Given the description of an element on the screen output the (x, y) to click on. 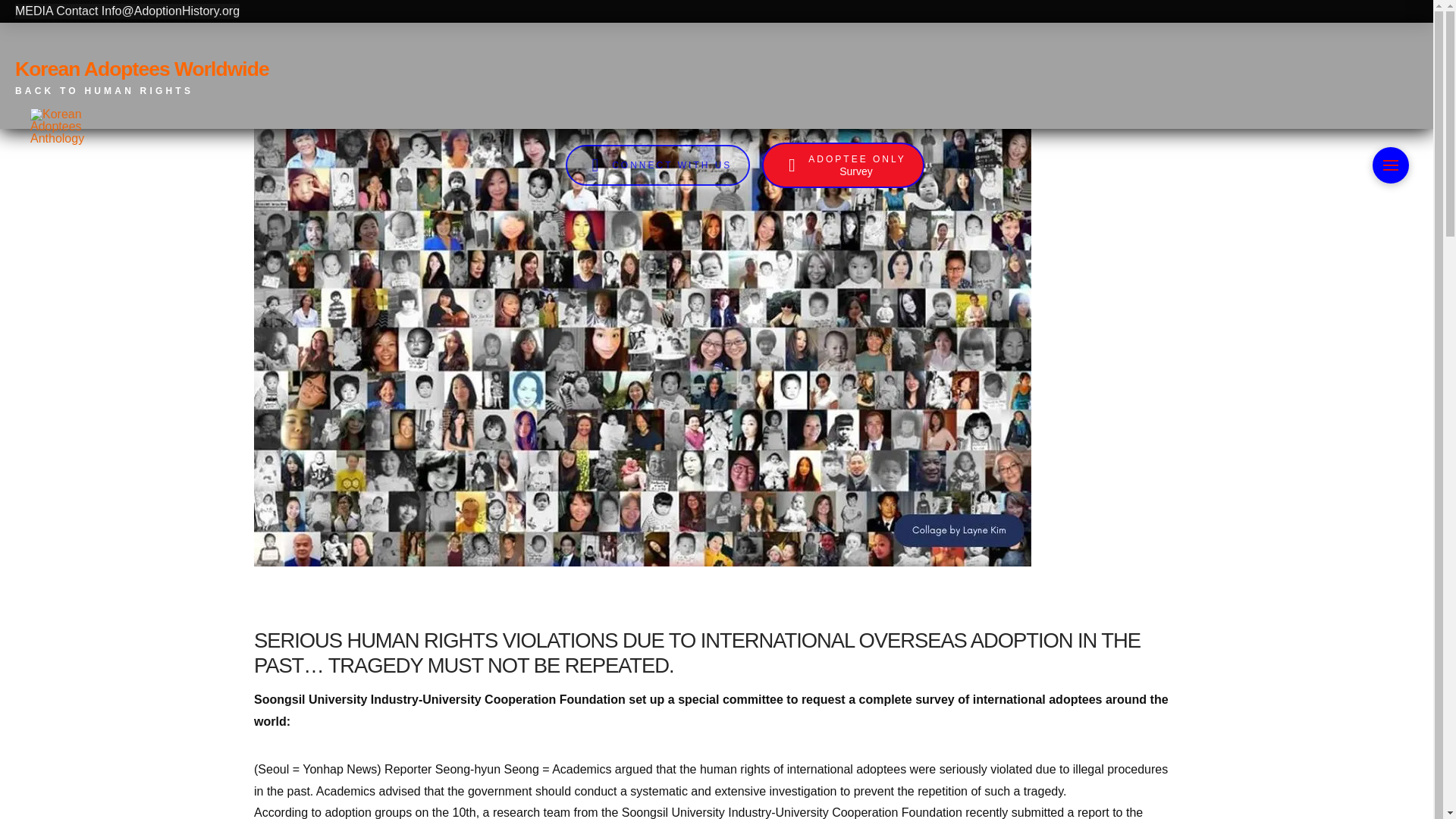
CONNECT WITH US (146, 75)
